Given the description of an element on the screen output the (x, y) to click on. 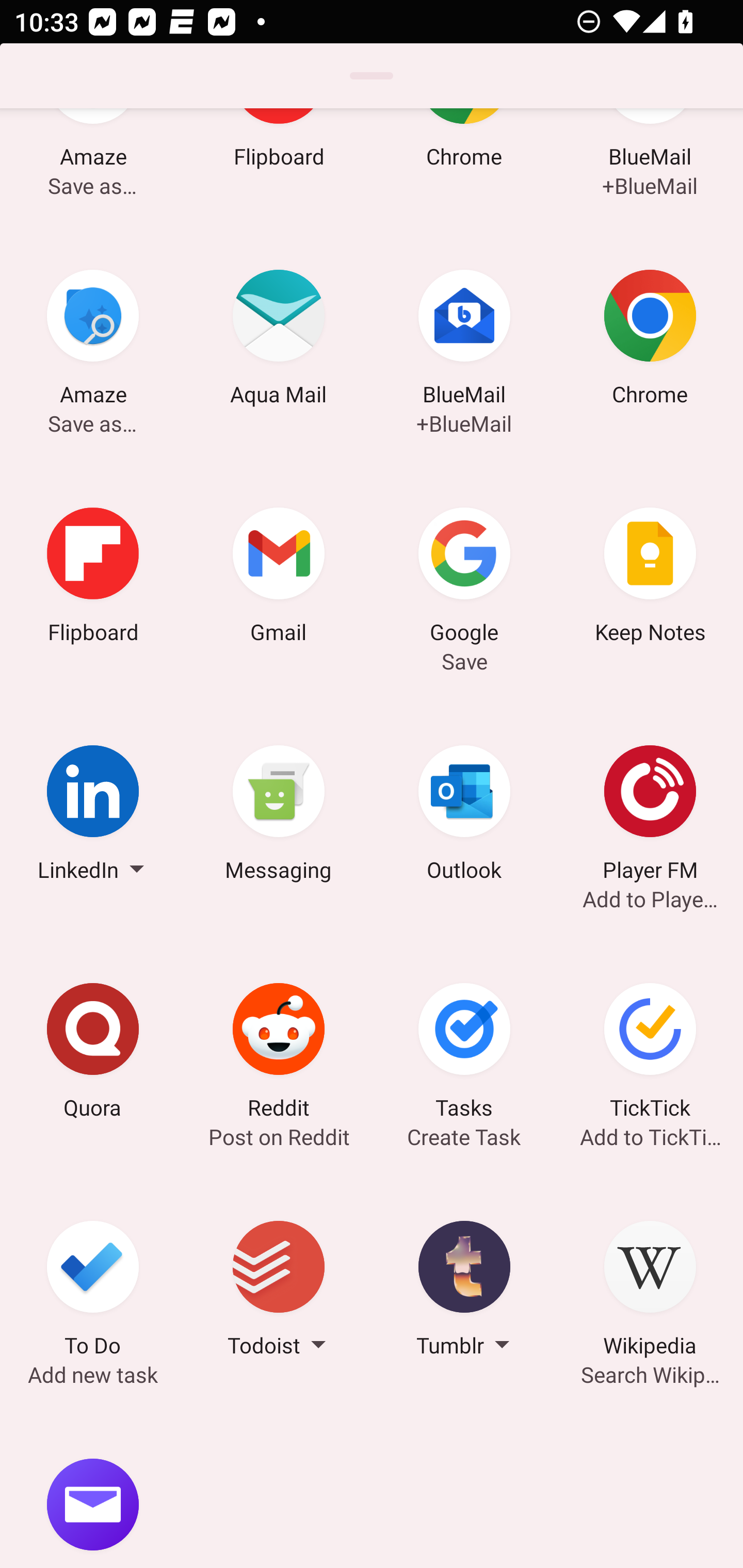
Amaze Save as… (92, 164)
Flipboard (278, 164)
Chrome (464, 164)
BlueMail +BlueMail (650, 164)
Amaze Save as… (92, 340)
Aqua Mail (278, 340)
BlueMail +BlueMail (464, 340)
Chrome (650, 340)
Flipboard (92, 578)
Gmail (278, 578)
Google Save (464, 578)
Keep Notes (650, 578)
LinkedIn (92, 815)
Messaging (278, 815)
Outlook (464, 815)
Player FM Add to Player FM (650, 815)
Quora (92, 1053)
Reddit Post on Reddit (278, 1053)
Tasks Create Task (464, 1053)
TickTick Add to TickTick (650, 1053)
To Do Add new task (92, 1291)
Todoist (278, 1291)
Tumblr (464, 1291)
Wikipedia Search Wikipedia (650, 1291)
